Given the description of an element on the screen output the (x, y) to click on. 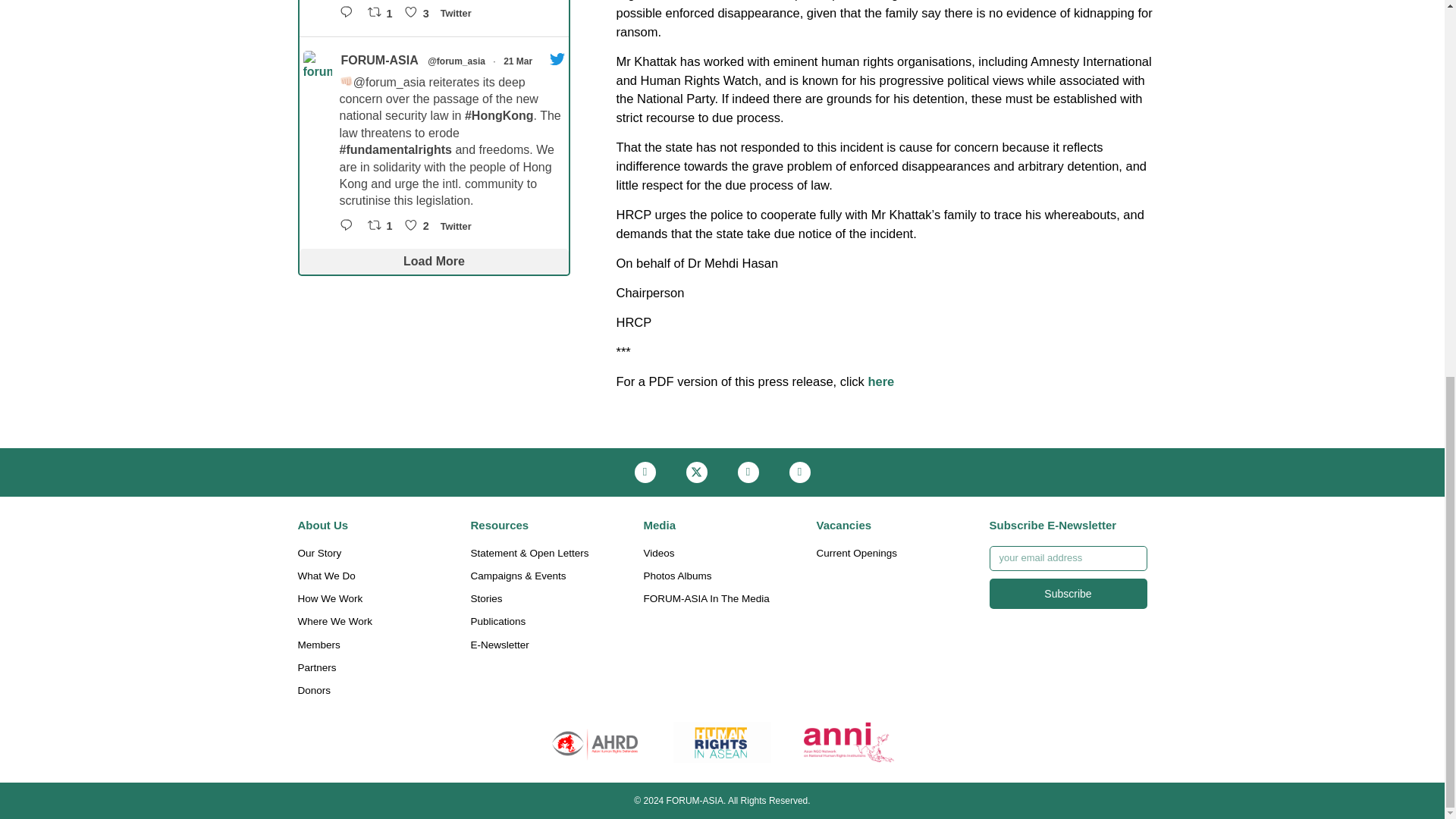
Default Title (722, 741)
Default Title (595, 741)
Default Title (848, 741)
